Given the description of an element on the screen output the (x, y) to click on. 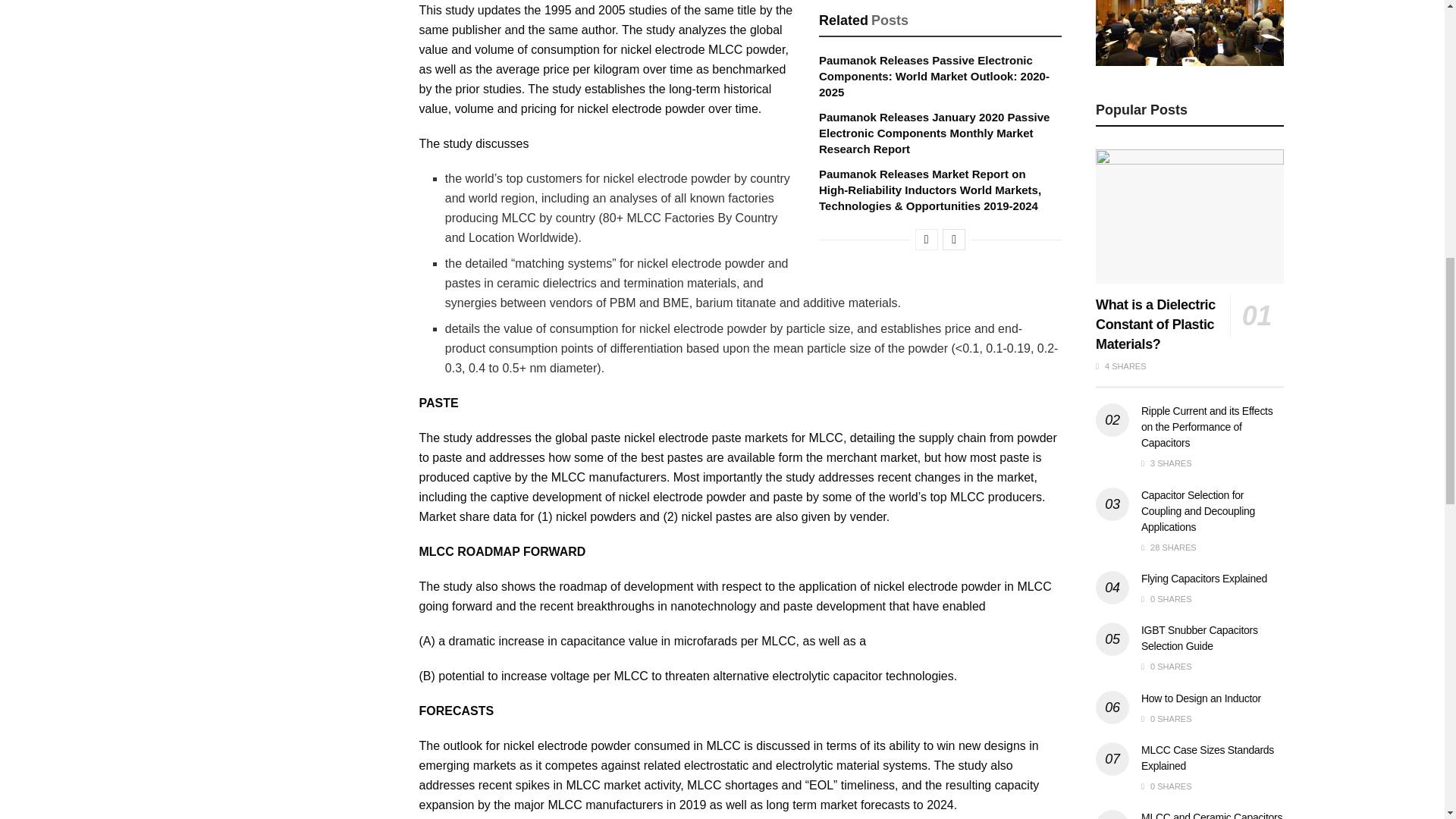
Next (953, 239)
Previous (926, 239)
